Given the description of an element on the screen output the (x, y) to click on. 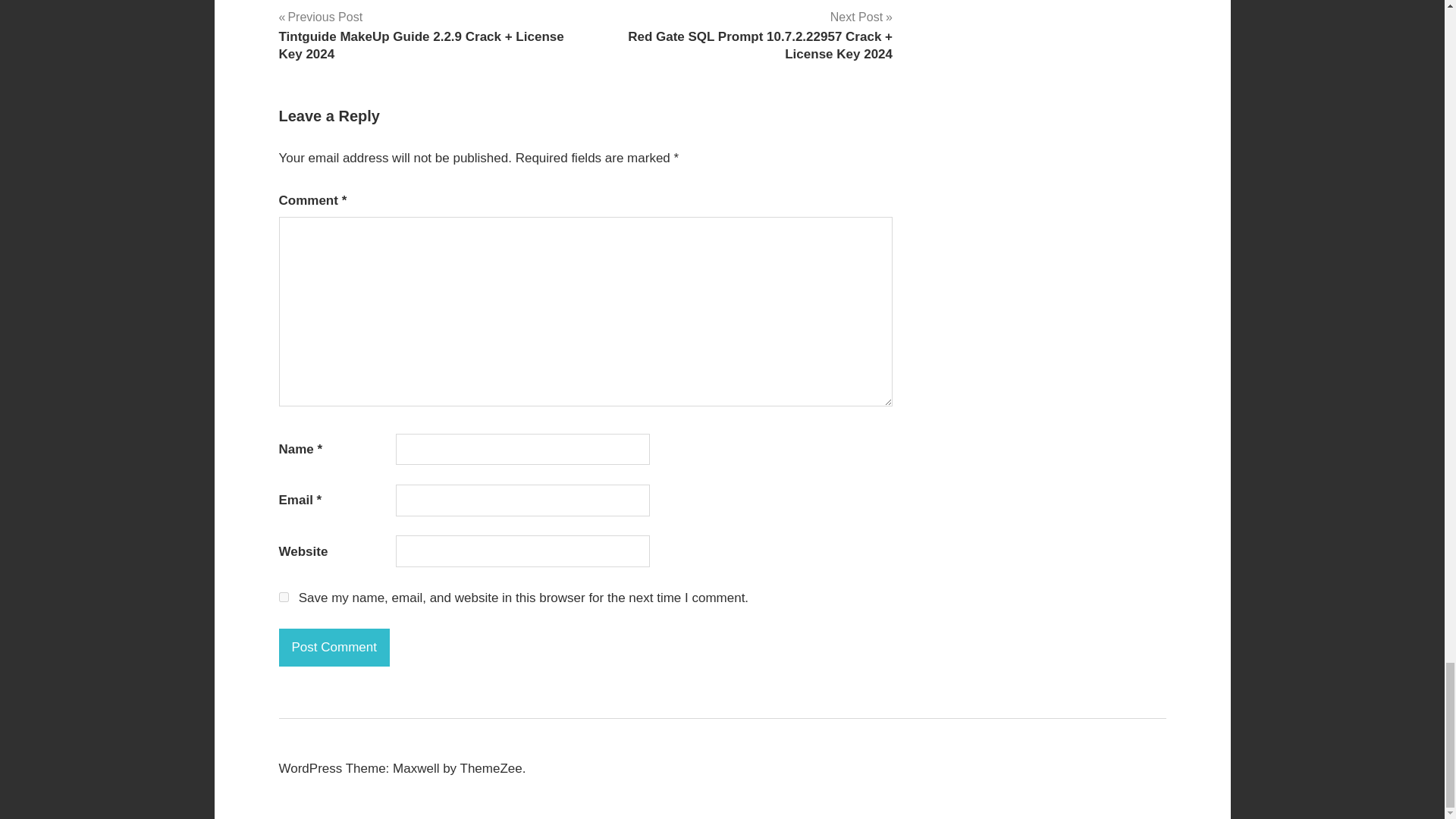
Post Comment (334, 647)
yes (283, 596)
Post Comment (334, 647)
